Given the description of an element on the screen output the (x, y) to click on. 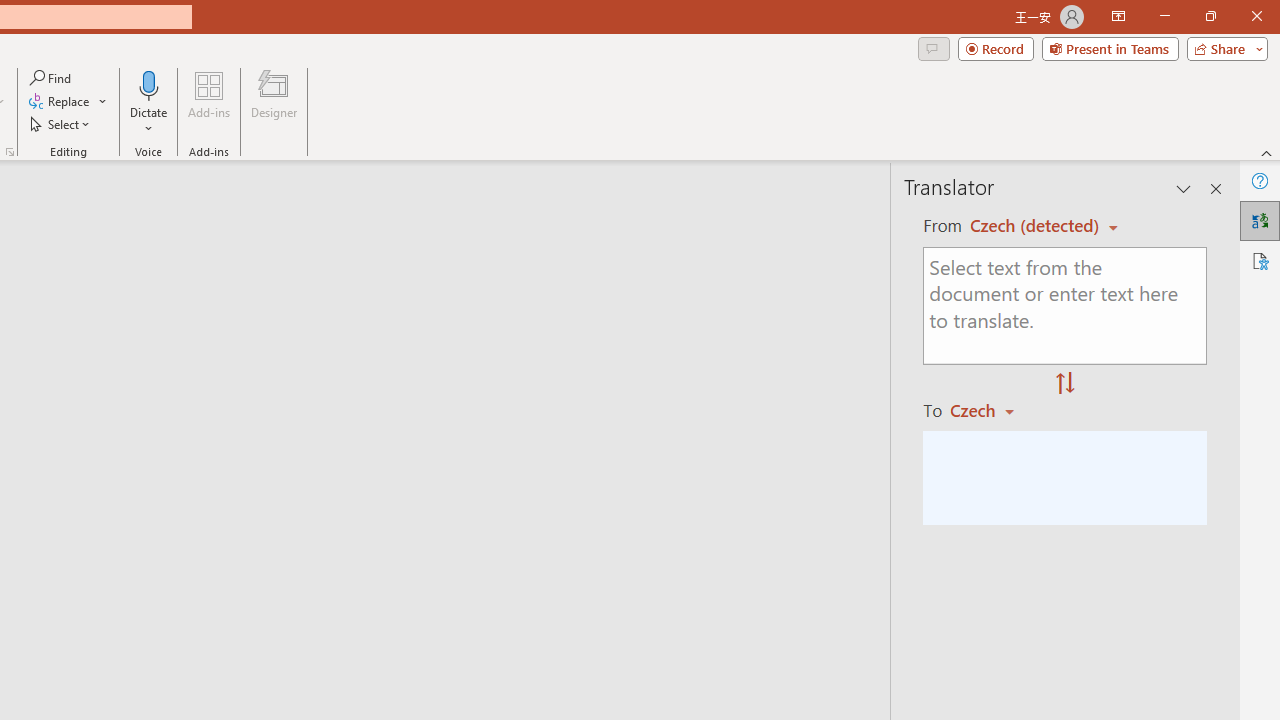
Minimize (1164, 16)
Present in Teams (1109, 48)
Select (61, 124)
Restore Down (1210, 16)
Task Pane Options (1183, 188)
Share (1223, 48)
Dictate (149, 84)
Find... (51, 78)
Designer (274, 102)
Accessibility (1260, 260)
